Given the description of an element on the screen output the (x, y) to click on. 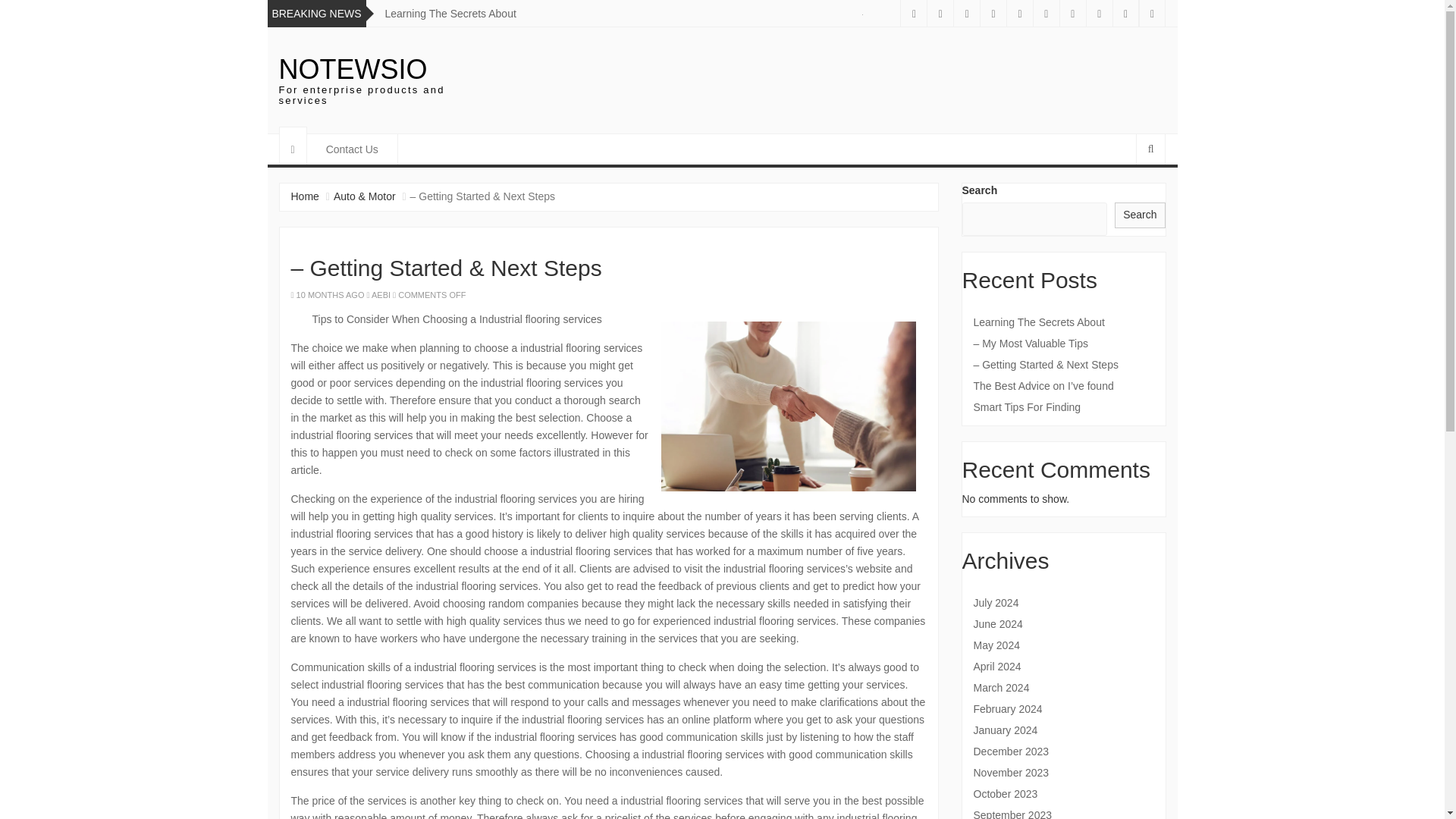
Learning The Secrets About (450, 13)
Search (1139, 215)
Home (304, 196)
NOTEWSIO (353, 69)
Contact Us (352, 149)
Learning The Secrets About (1064, 321)
